Given the description of an element on the screen output the (x, y) to click on. 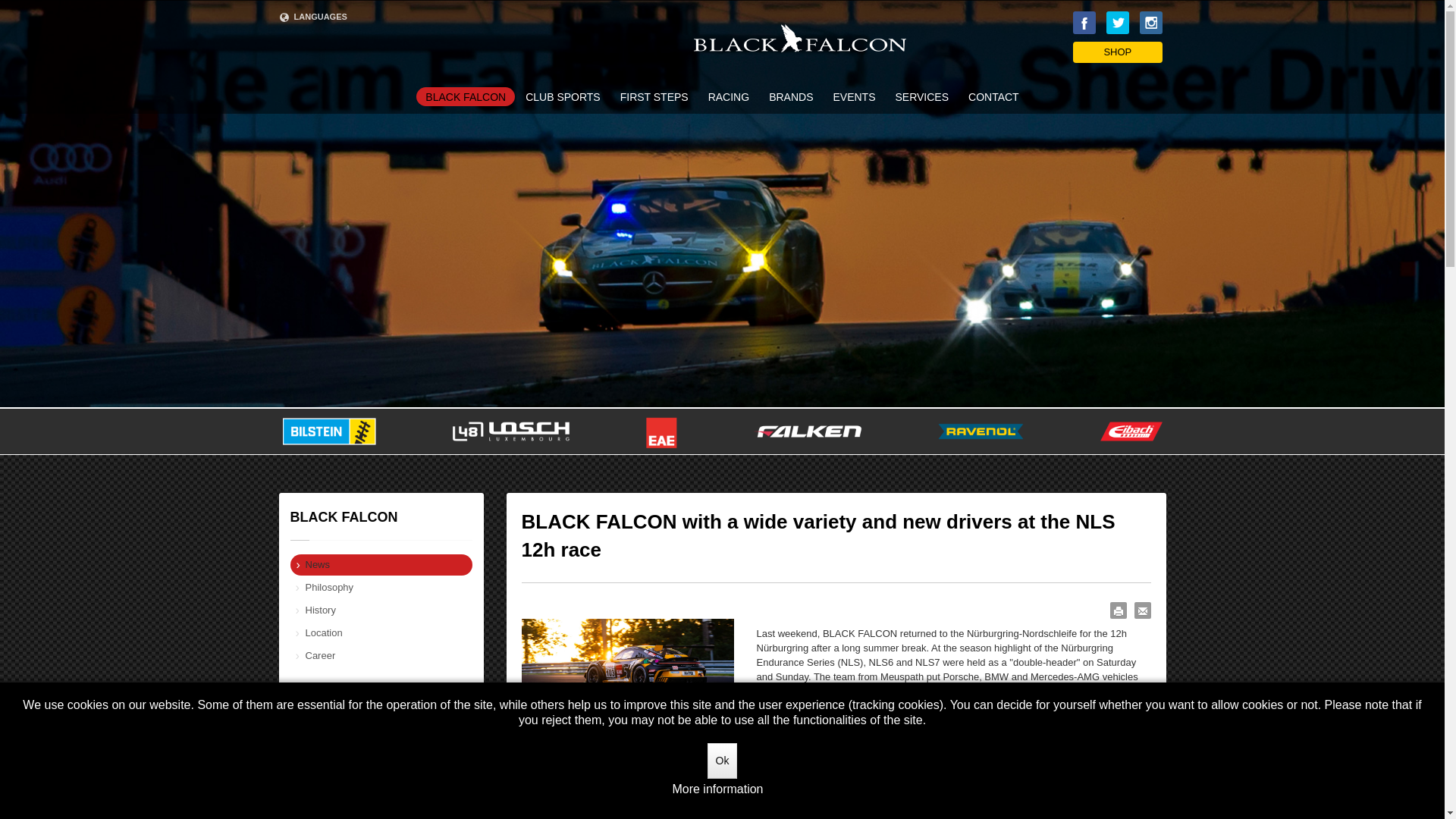
Twitter (1117, 22)
CLUB SPORTS (563, 96)
Black Falcon Startseite (799, 38)
LANGUAGES (313, 16)
BRANDS (791, 96)
RACING (728, 96)
FIRST STEPS (654, 96)
Facebook (1084, 22)
Instagram (1149, 22)
Visit us on Instagram (1149, 22)
Visit us on Twitter (1117, 22)
EVENTS (853, 96)
Visit us on Facebook (1084, 22)
SHOP (1117, 52)
BLACK FALCON (465, 96)
